Given the description of an element on the screen output the (x, y) to click on. 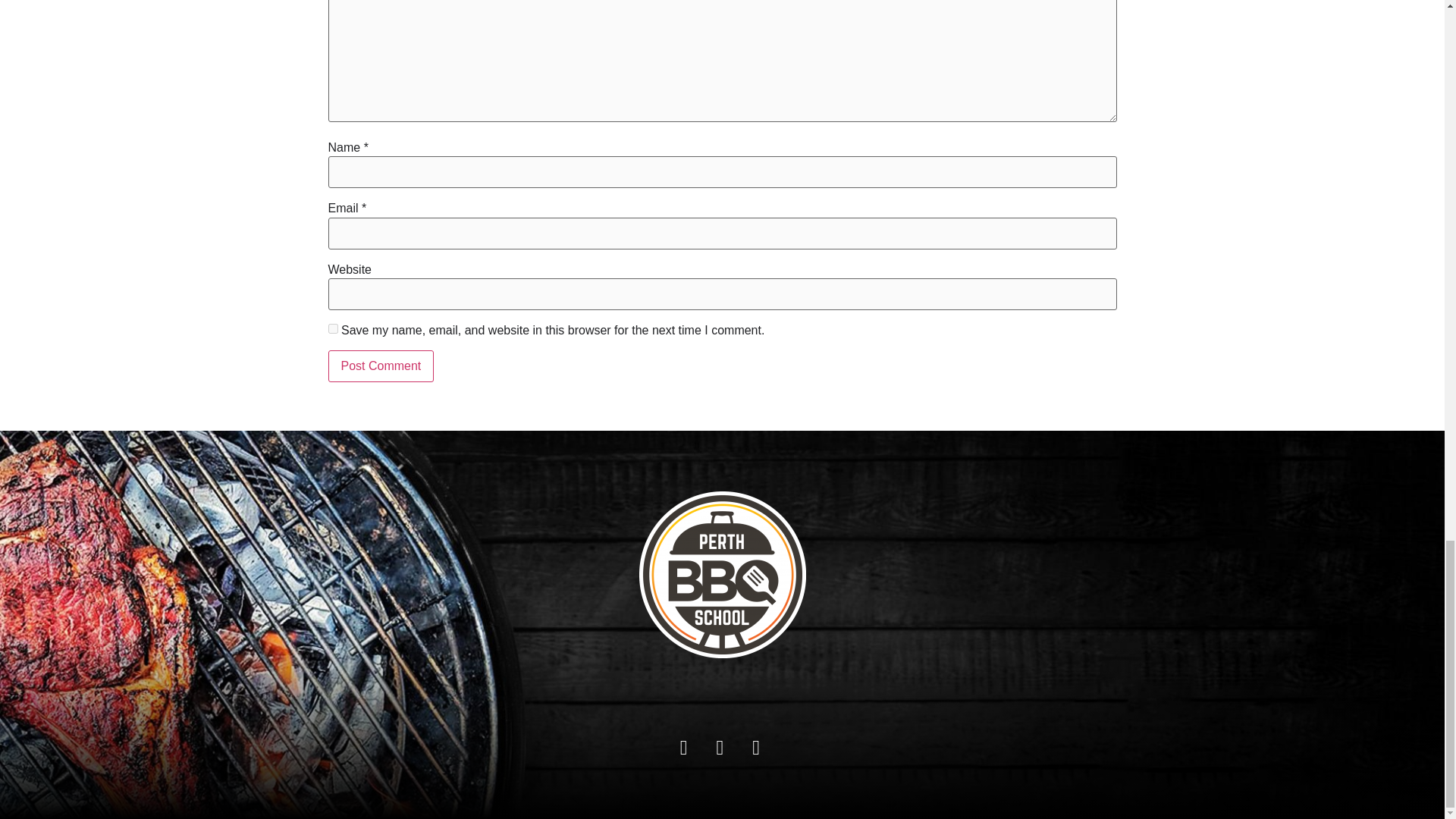
yes (332, 328)
Post Comment (380, 366)
Post Comment (380, 366)
